Given the description of an element on the screen output the (x, y) to click on. 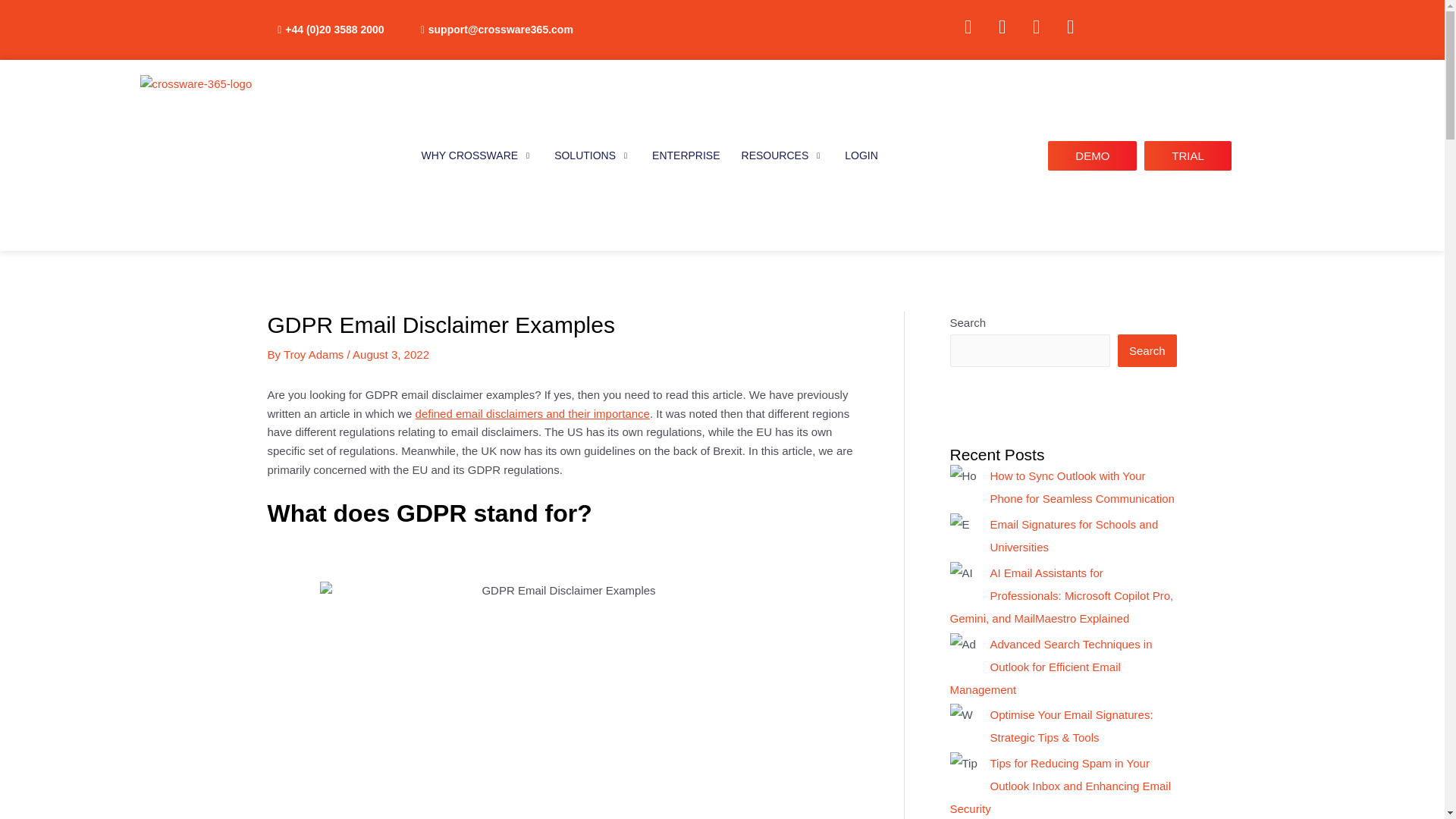
WHY CROSSWARE (477, 155)
View all posts by Troy Adams (315, 354)
SOLUTIONS (592, 155)
